Given the description of an element on the screen output the (x, y) to click on. 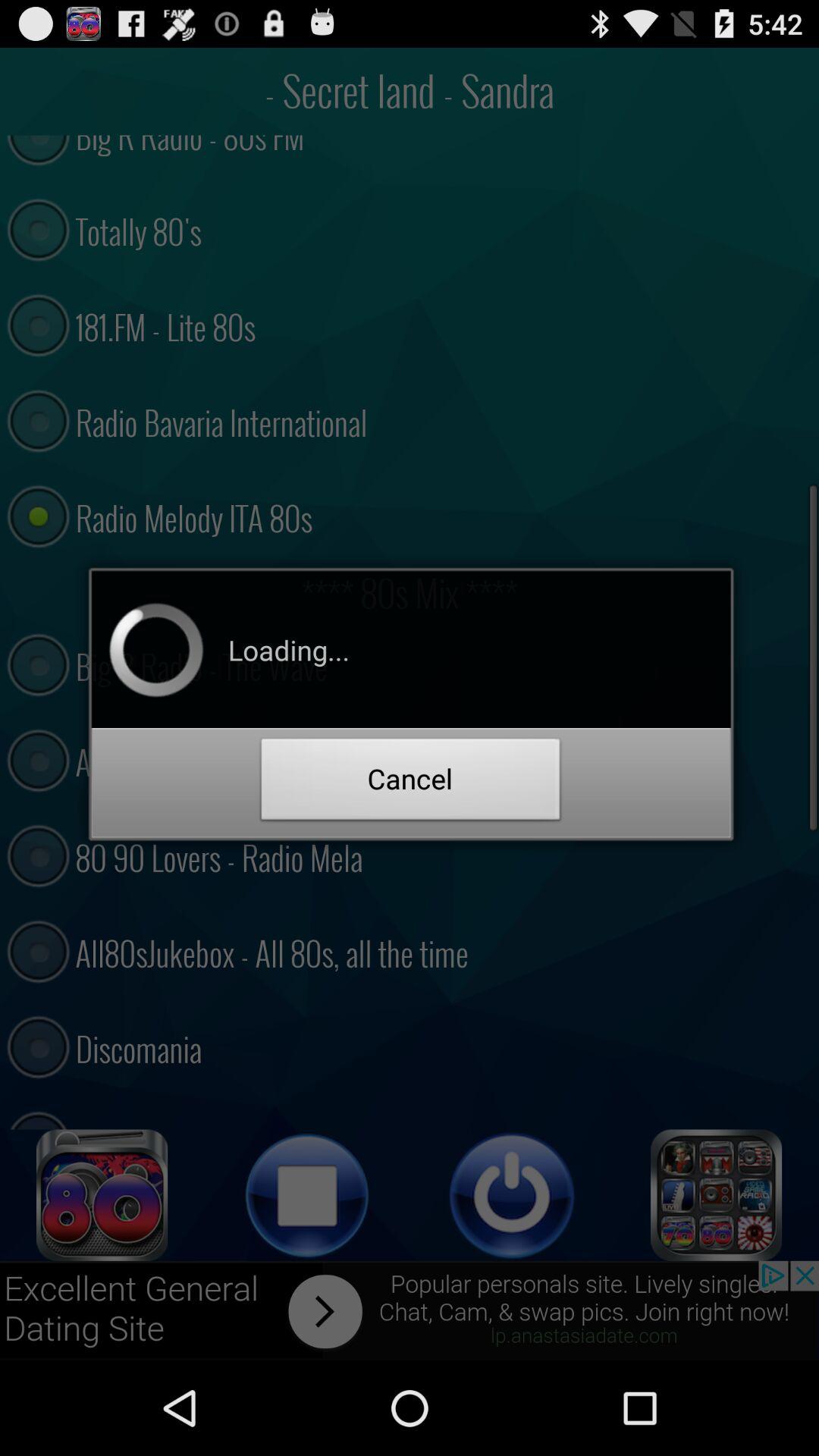
advertisements image (409, 1310)
